Given the description of an element on the screen output the (x, y) to click on. 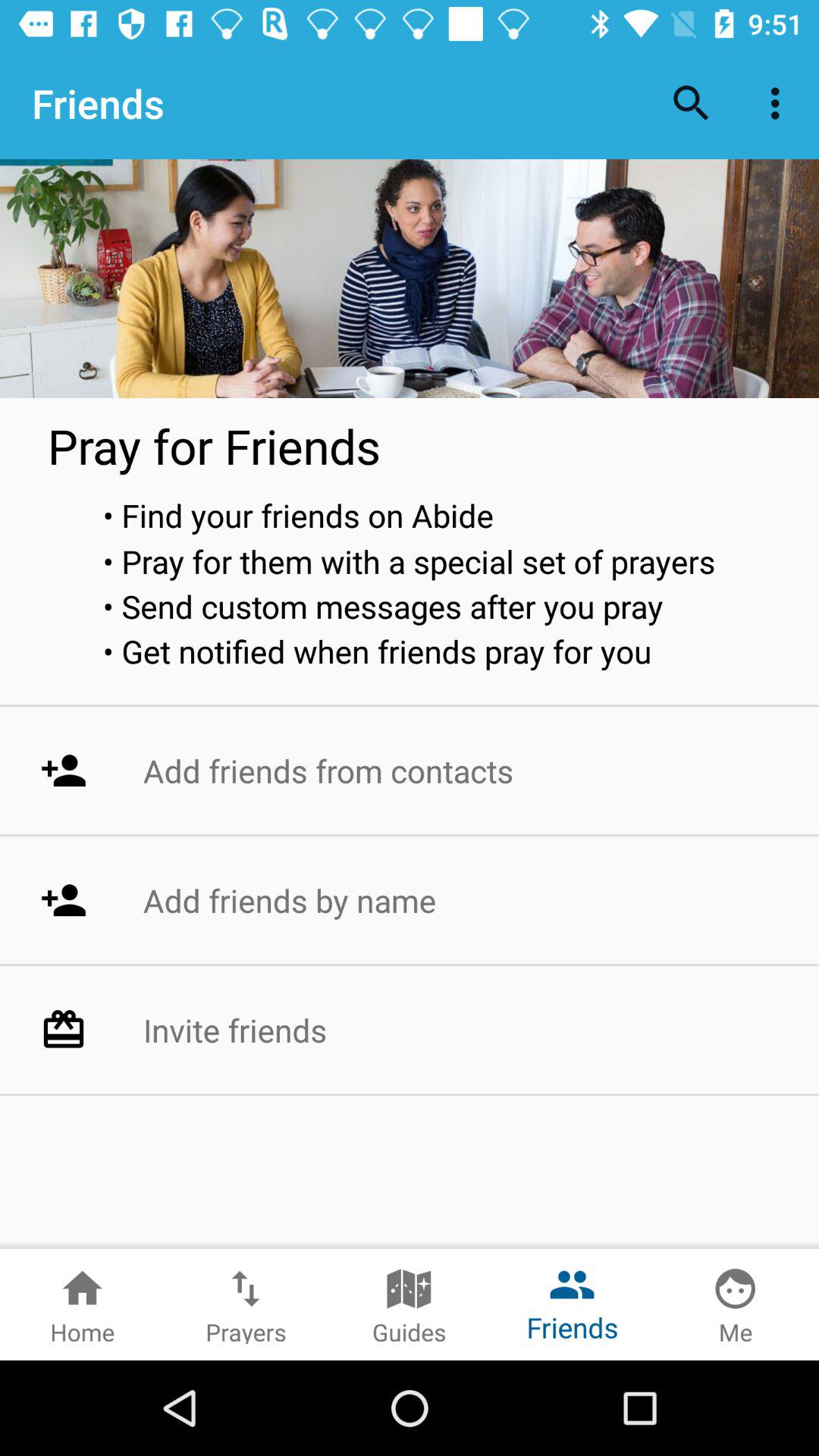
press item to the right of friends item (691, 103)
